Given the description of an element on the screen output the (x, y) to click on. 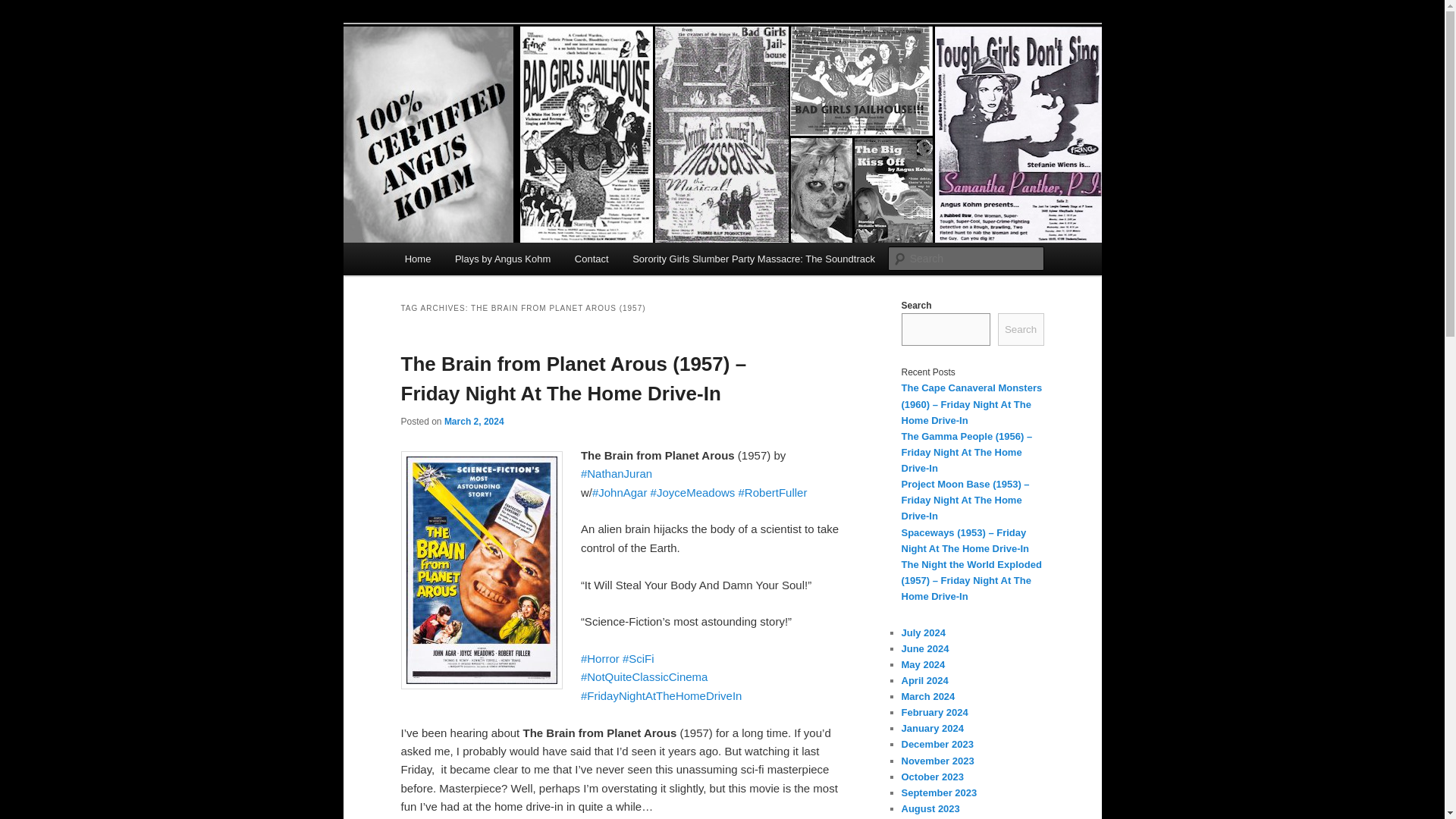
Search (24, 8)
Contact (591, 258)
Sorority Girls Slumber Party Massacre: The Soundtrack (753, 258)
March 2, 2024 (473, 420)
Home (417, 258)
1:34 am (473, 420)
Plays by Angus Kohm (502, 258)
